Given the description of an element on the screen output the (x, y) to click on. 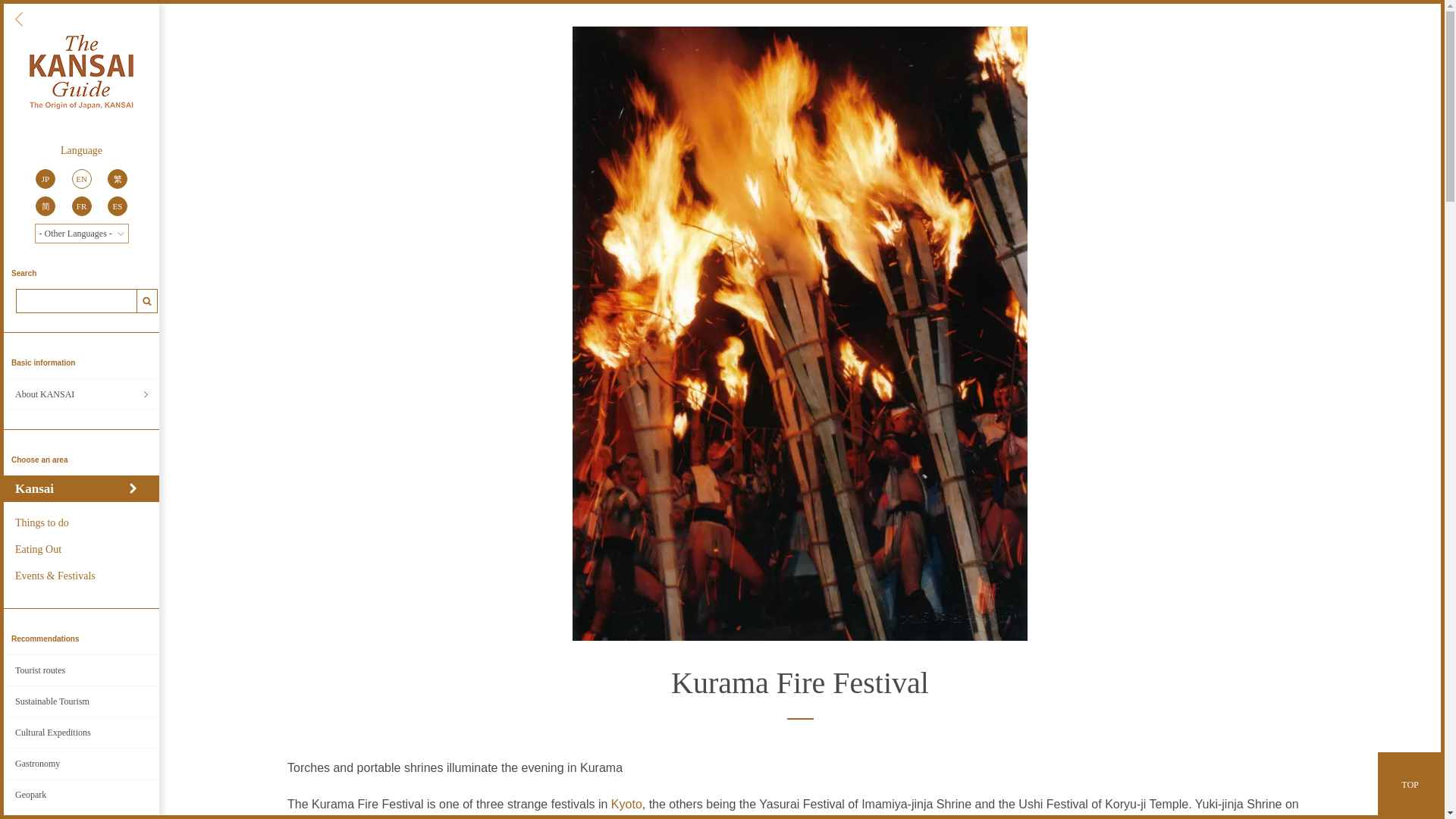
Gastronomy (81, 763)
JP (44, 178)
Tourist routes (81, 670)
ES (117, 206)
Menu (18, 19)
Cultural Expeditions (81, 732)
Eating Out (81, 549)
EN (80, 178)
Things to do (81, 522)
Geopark (81, 794)
Sustainable Tourism (81, 701)
FR (80, 206)
